Given the description of an element on the screen output the (x, y) to click on. 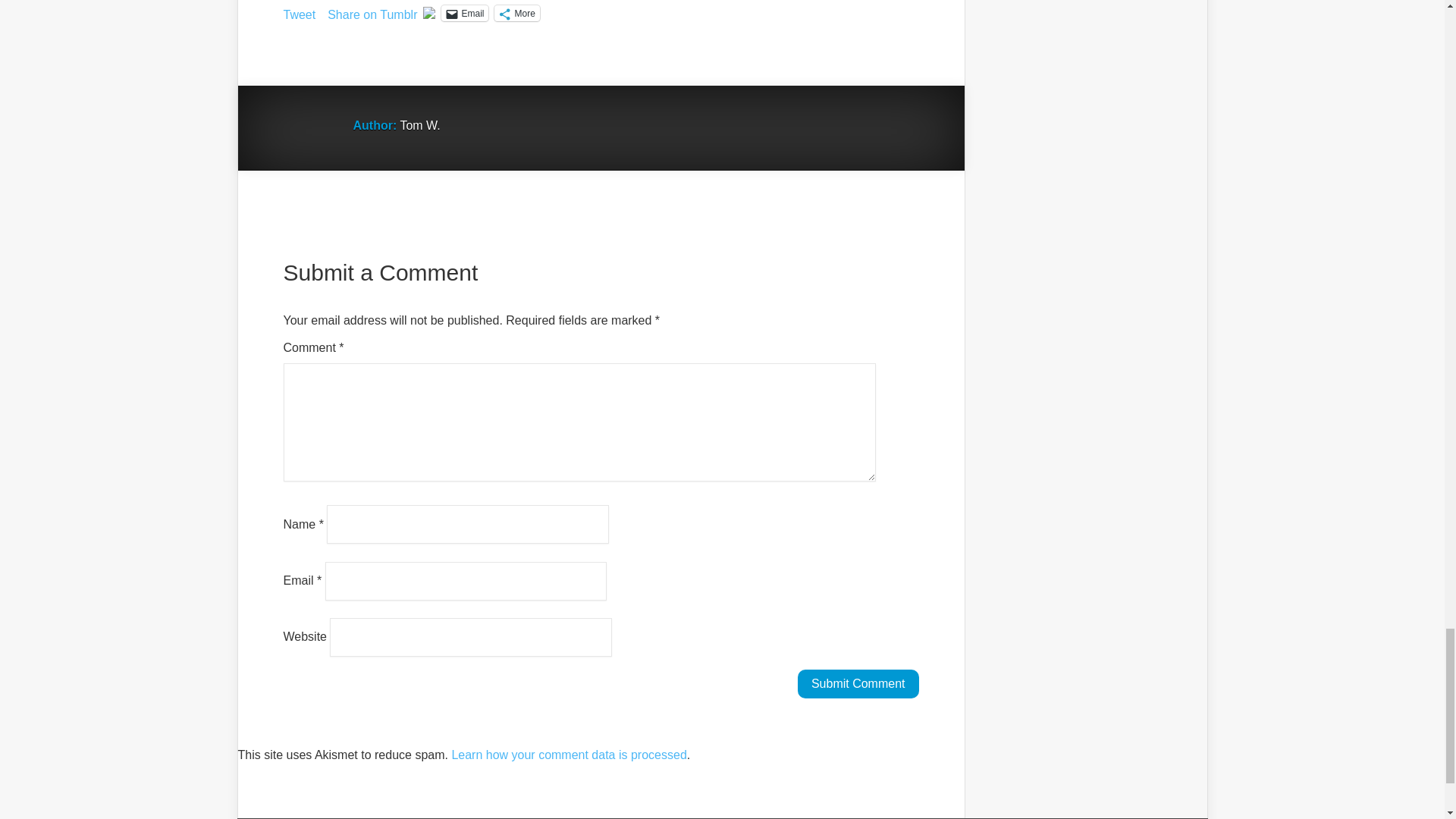
Submit Comment (857, 683)
Share on Tumblr (371, 11)
Share on Tumblr (371, 11)
More (516, 12)
Click to email a link to a friend (464, 12)
Email (464, 12)
Tweet (299, 11)
